Given the description of an element on the screen output the (x, y) to click on. 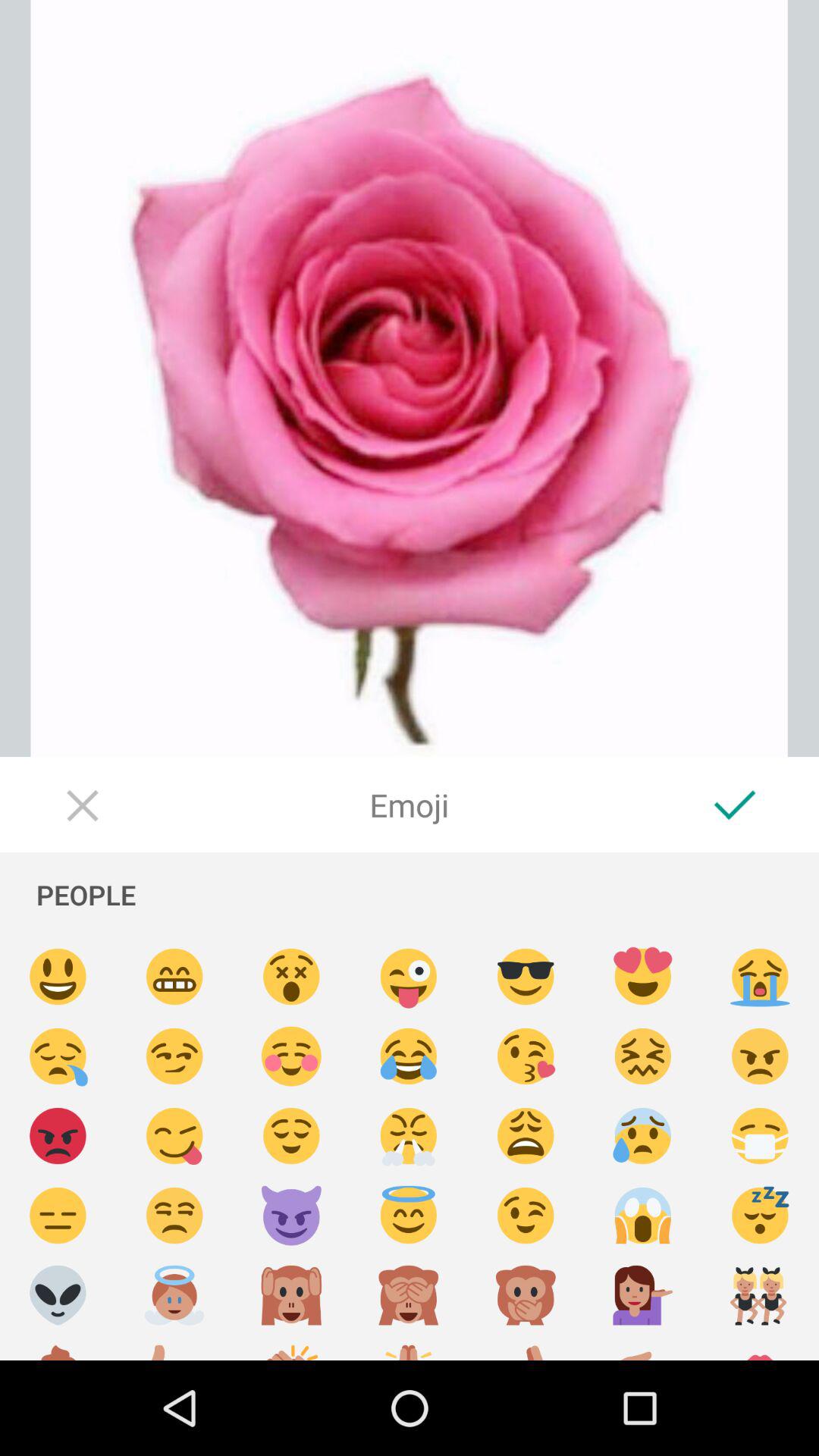
insert emoji (174, 1215)
